Given the description of an element on the screen output the (x, y) to click on. 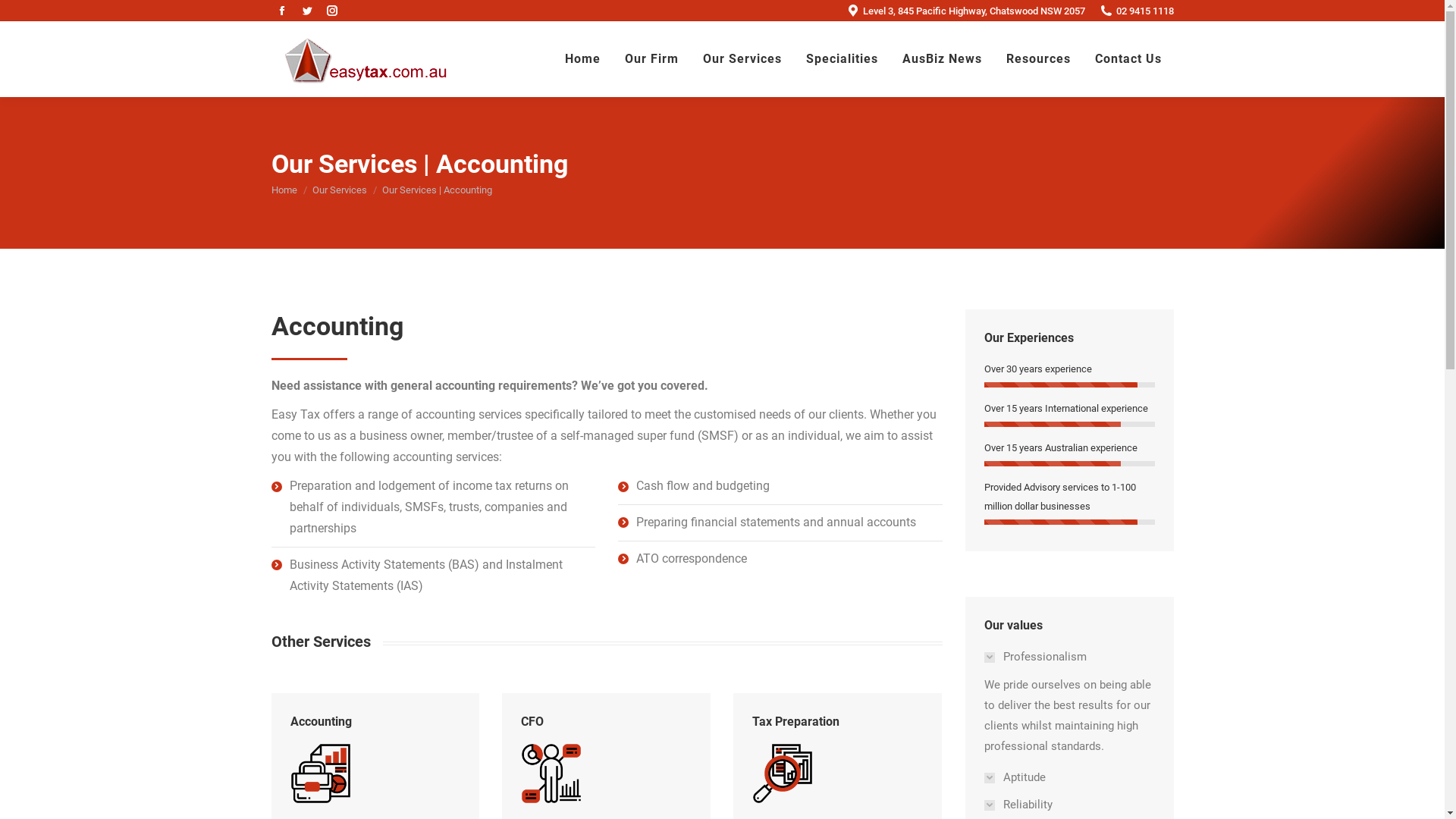
Our Services Element type: text (339, 188)
Our Services Element type: text (741, 58)
Resources Element type: text (1037, 58)
Contact Us Element type: text (1128, 58)
Our Firm Element type: text (651, 58)
Instagram Element type: text (331, 10)
Aptitude Element type: text (1023, 777)
Specialities Element type: text (841, 58)
Professionalism Element type: text (1023, 656)
Home Element type: text (581, 58)
Reliability Element type: text (1023, 804)
Twitter Element type: text (305, 10)
AusBiz News Element type: text (942, 58)
02 9415 1118 Element type: text (1136, 10)
Home Element type: text (284, 188)
Facebook Element type: text (281, 10)
